Given the description of an element on the screen output the (x, y) to click on. 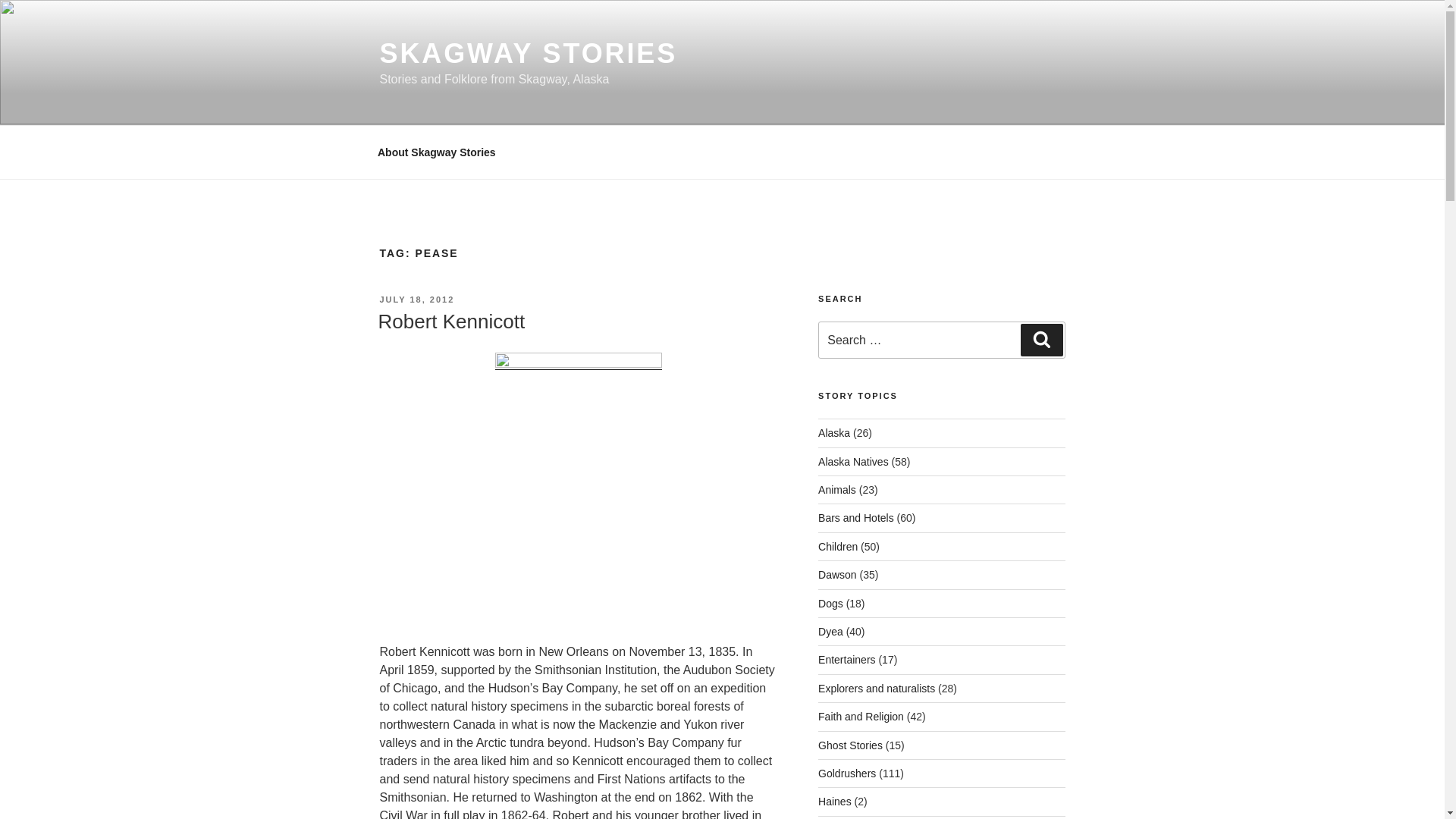
Dawson (837, 574)
Children (837, 546)
Ghost Stories (850, 745)
Dyea (830, 631)
Haines (834, 801)
Alaska Natives (853, 461)
Search (1041, 339)
Bars and Hotels (855, 517)
Goldrushers (847, 773)
SKAGWAY STORIES (527, 52)
Dogs (830, 603)
Robert Kennicott (450, 321)
JULY 18, 2012 (416, 298)
Animals (837, 490)
Faith and Religion (861, 716)
